Given the description of an element on the screen output the (x, y) to click on. 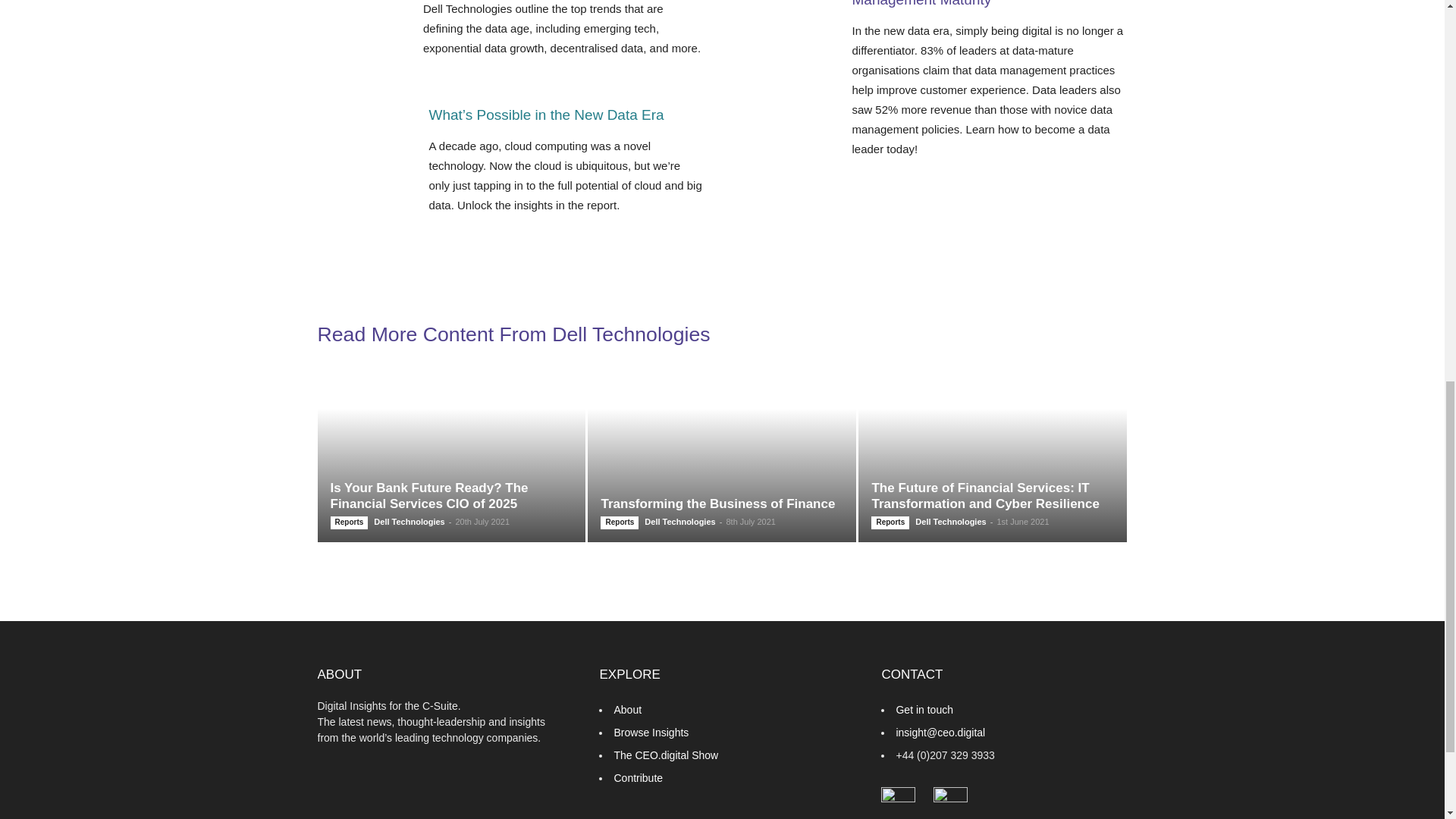
Transforming the Business of Finance (722, 458)
Transforming the Business of Finance (716, 503)
